Given the description of an element on the screen output the (x, y) to click on. 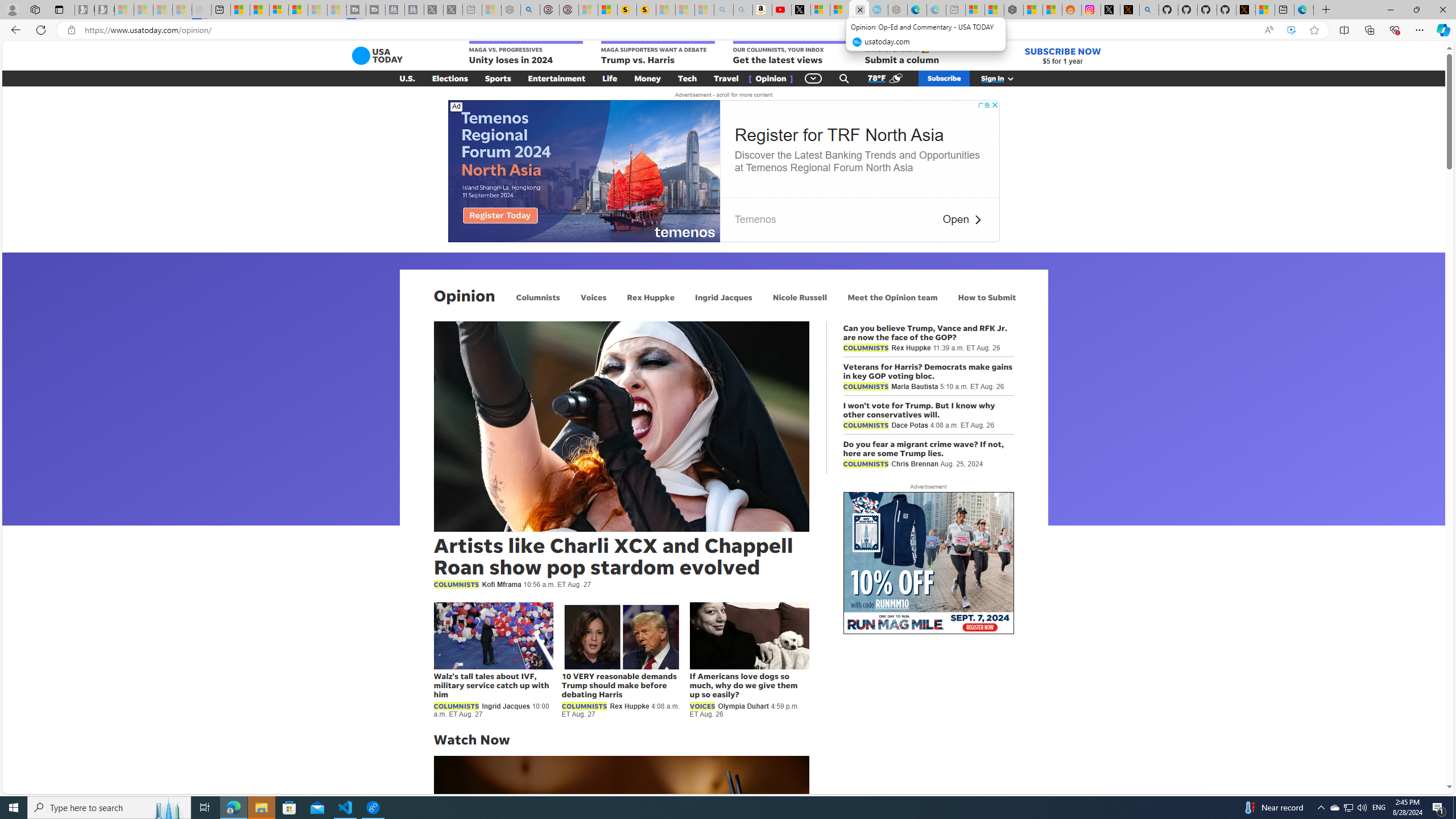
App bar (728, 29)
Life (609, 78)
Nicole Russell (799, 296)
